Given the description of an element on the screen output the (x, y) to click on. 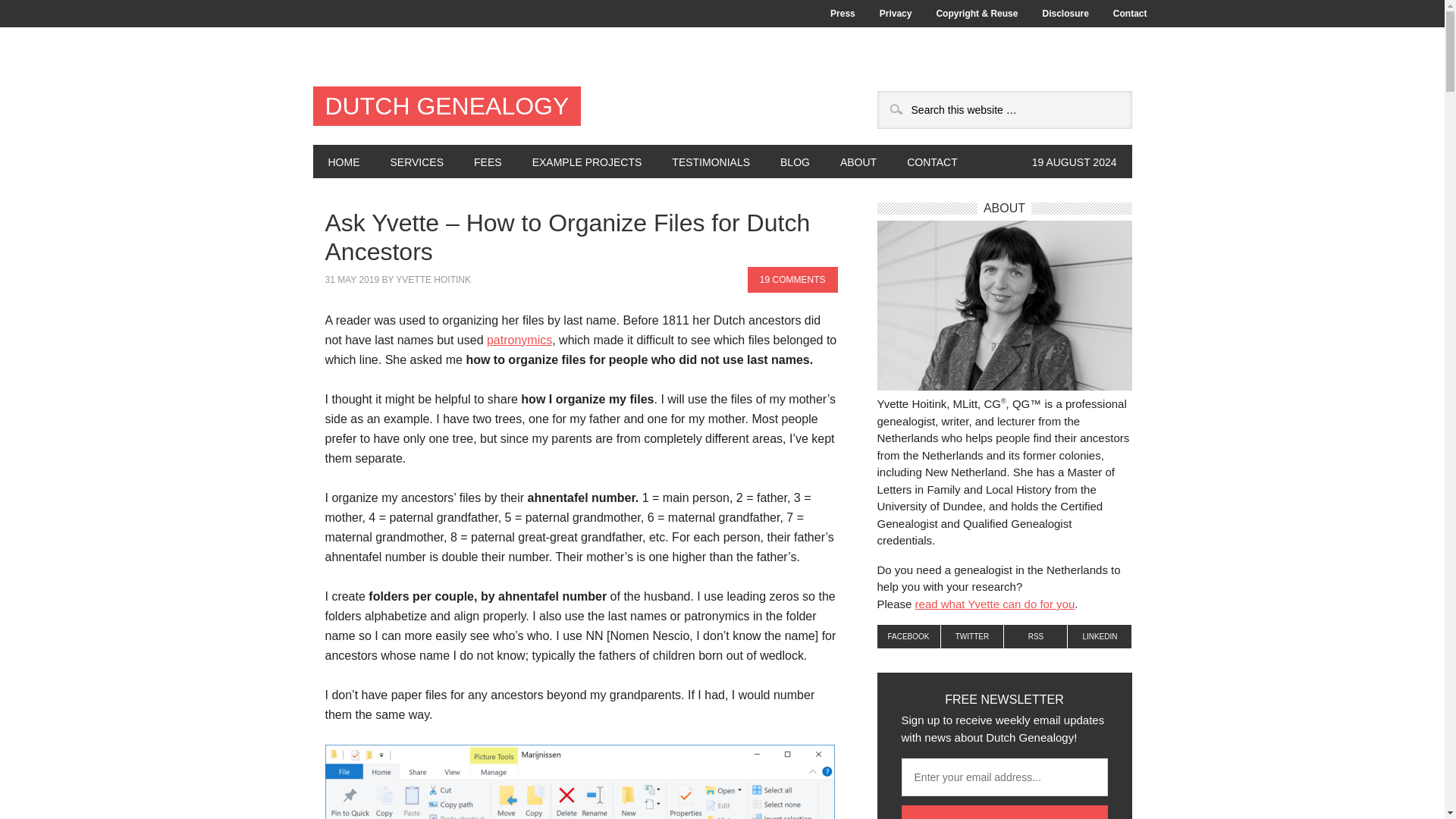
Privacy (895, 13)
patronymics (518, 339)
19 COMMENTS (793, 279)
ABOUT (858, 161)
SERVICES (416, 161)
FEES (487, 161)
hire a professional genealogist (995, 603)
Sign up now (1004, 812)
EXAMPLE PROJECTS (587, 161)
